Given the description of an element on the screen output the (x, y) to click on. 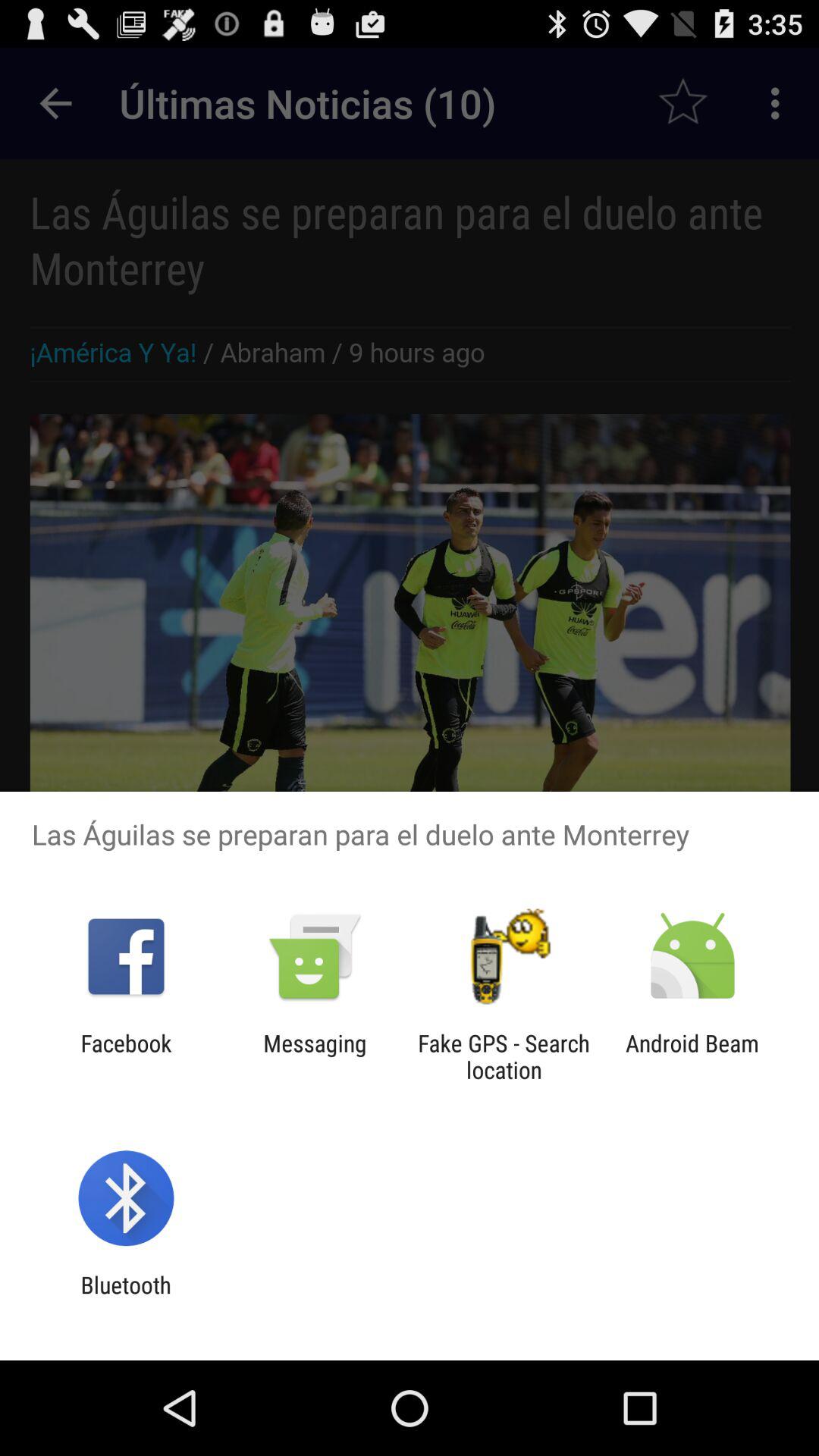
click the app to the left of messaging app (125, 1056)
